Given the description of an element on the screen output the (x, y) to click on. 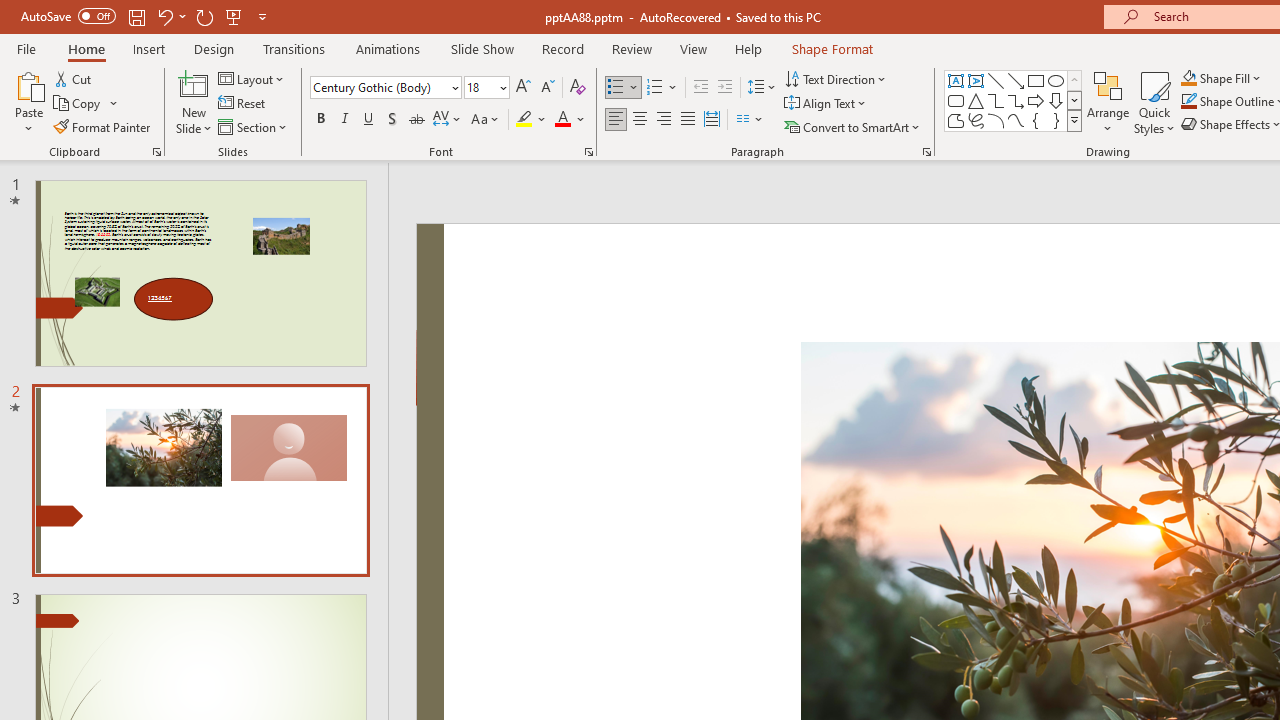
Paste (28, 102)
Format Painter (103, 126)
Increase Font Size (522, 87)
Decrease Indent (700, 87)
Font Color Red (562, 119)
Character Spacing (447, 119)
Shadow (392, 119)
Line Arrow (1016, 80)
Rectangle: Rounded Corners (955, 100)
Arrange (1108, 102)
Bold (320, 119)
